Given the description of an element on the screen output the (x, y) to click on. 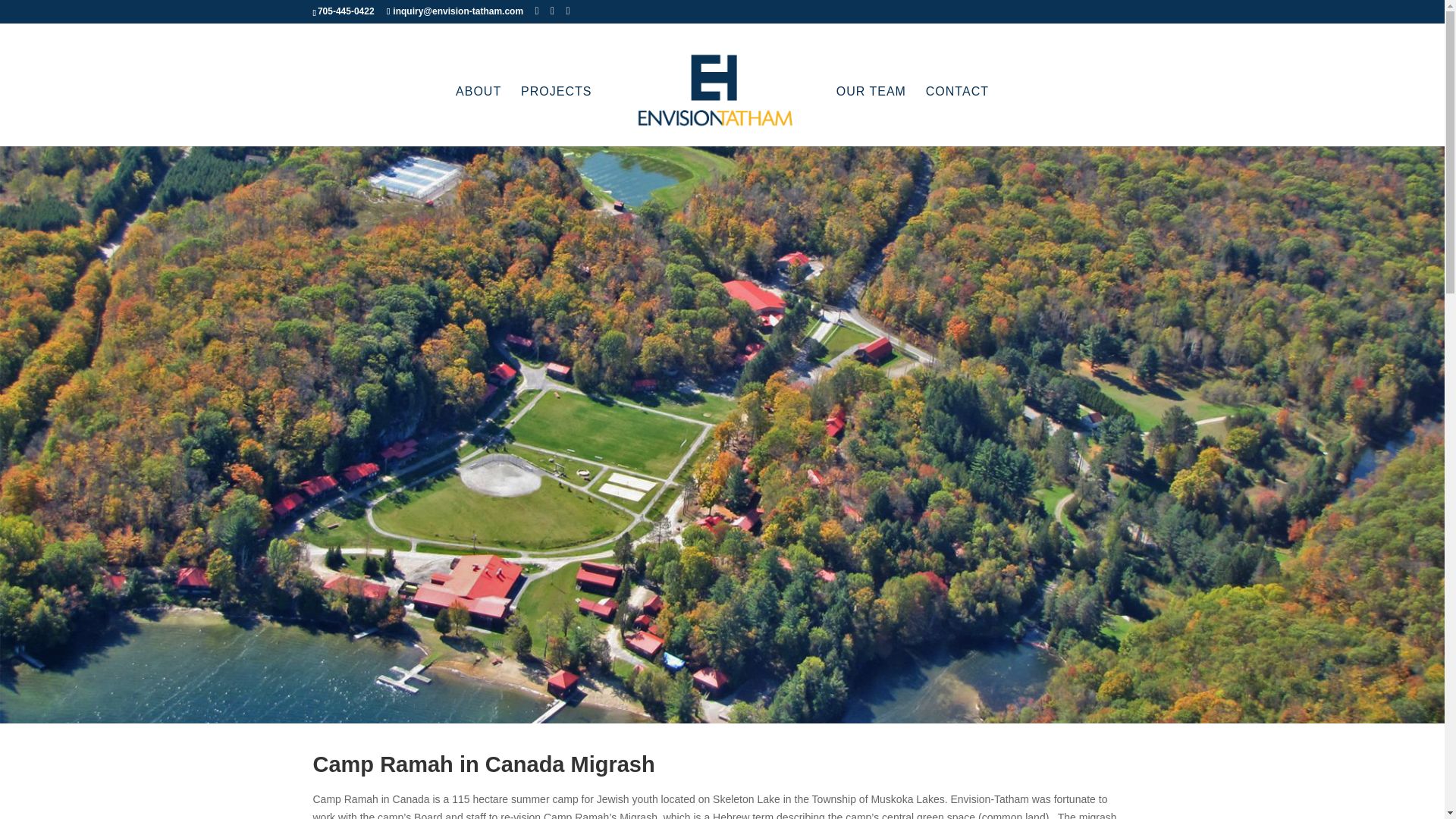
CONTACT (957, 116)
PROJECTS (556, 116)
OUR TEAM (870, 116)
